Given the description of an element on the screen output the (x, y) to click on. 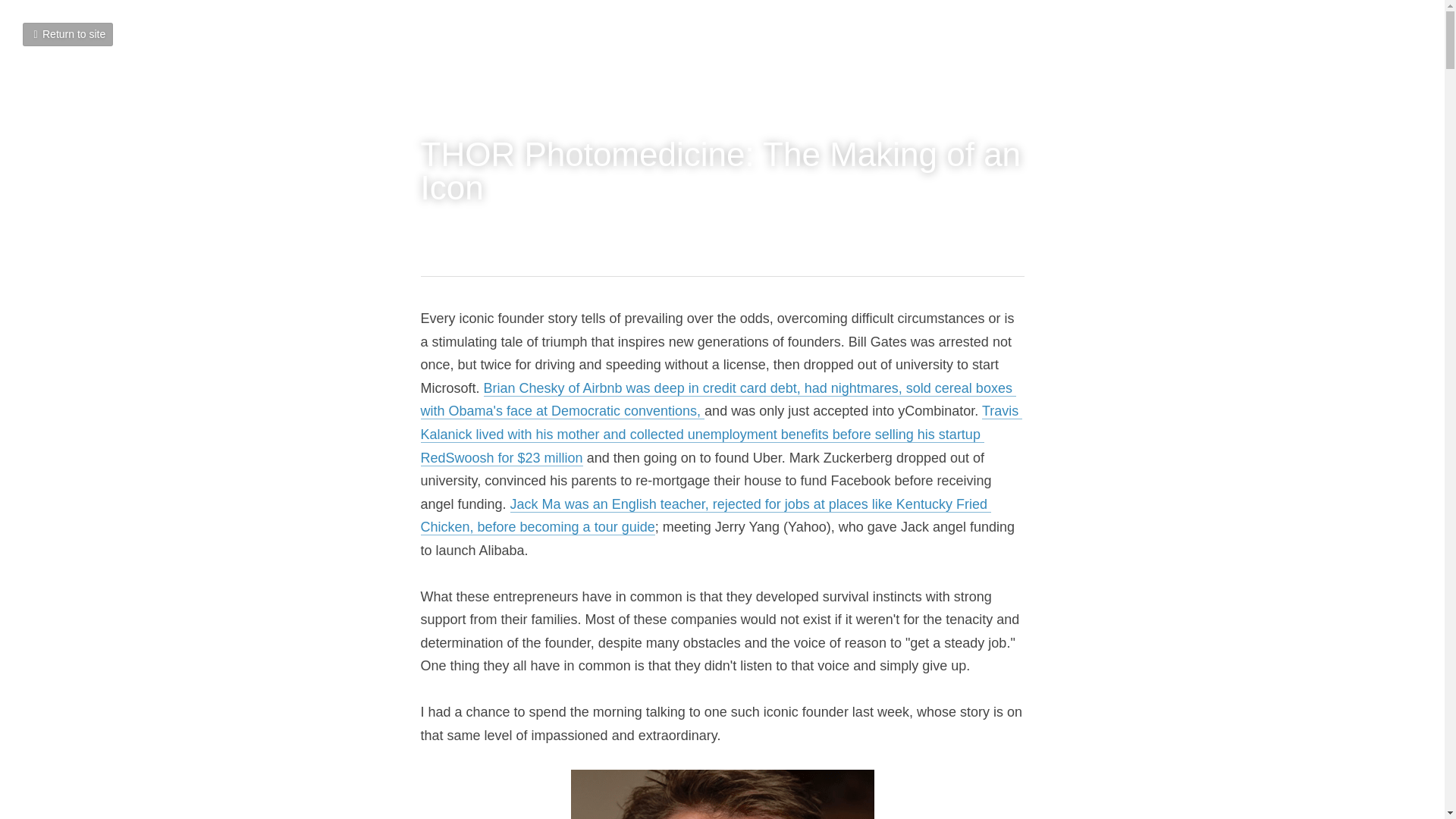
Return to site (68, 33)
